Given the description of an element on the screen output the (x, y) to click on. 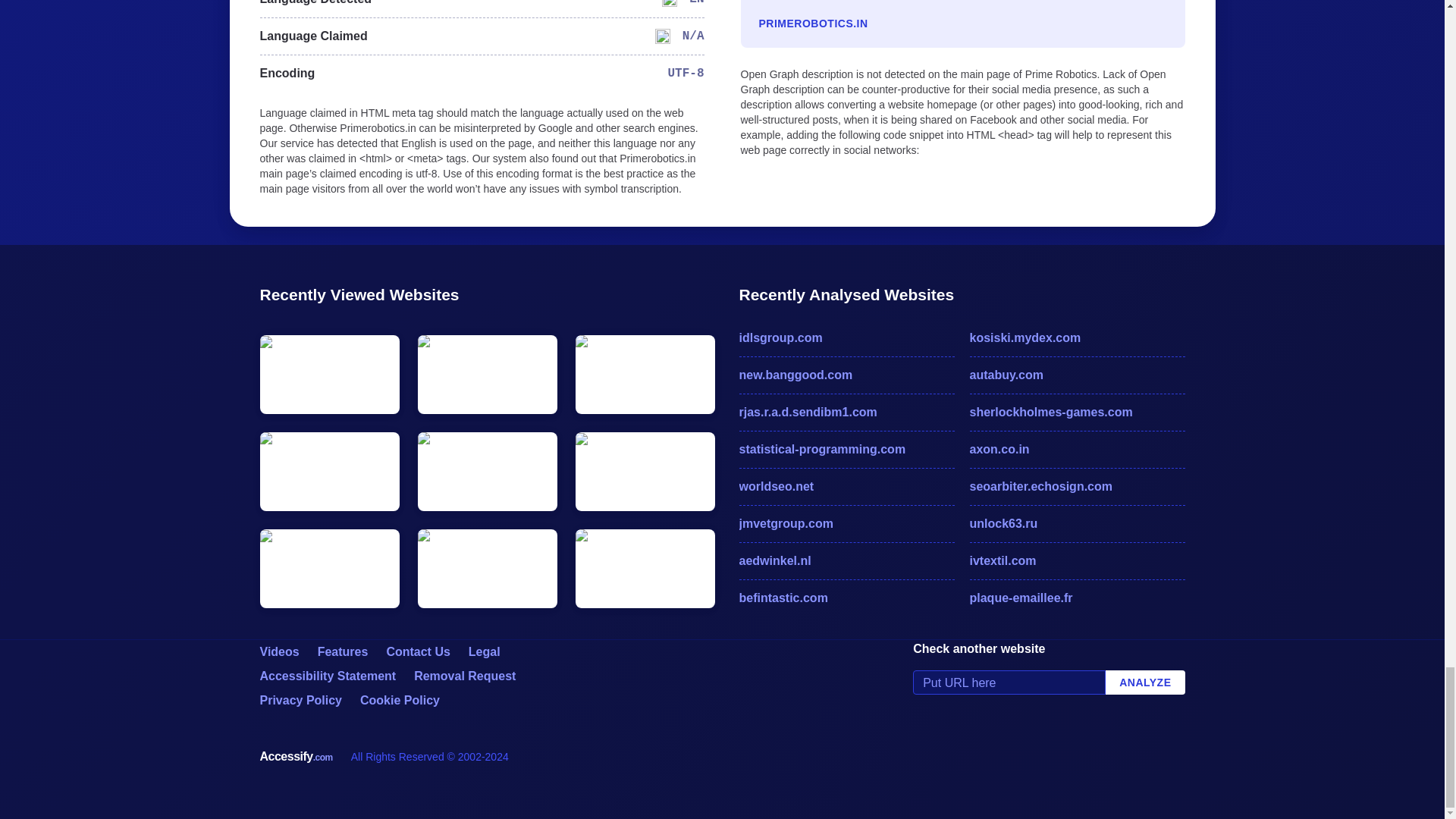
autabuy.com (1077, 375)
rjas.r.a.d.sendibm1.com (845, 412)
axon.co.in (1077, 449)
kosiski.mydex.com (1077, 338)
befintastic.com (845, 597)
Features (342, 651)
Legal (484, 651)
new.banggood.com (845, 375)
Screencasts: video tutorials and guides (278, 651)
ivtextil.com (1077, 561)
idlsgroup.com (845, 338)
worldseo.net (845, 486)
jmvetgroup.com (845, 524)
sherlockholmes-games.com (1077, 412)
